Given the description of an element on the screen output the (x, y) to click on. 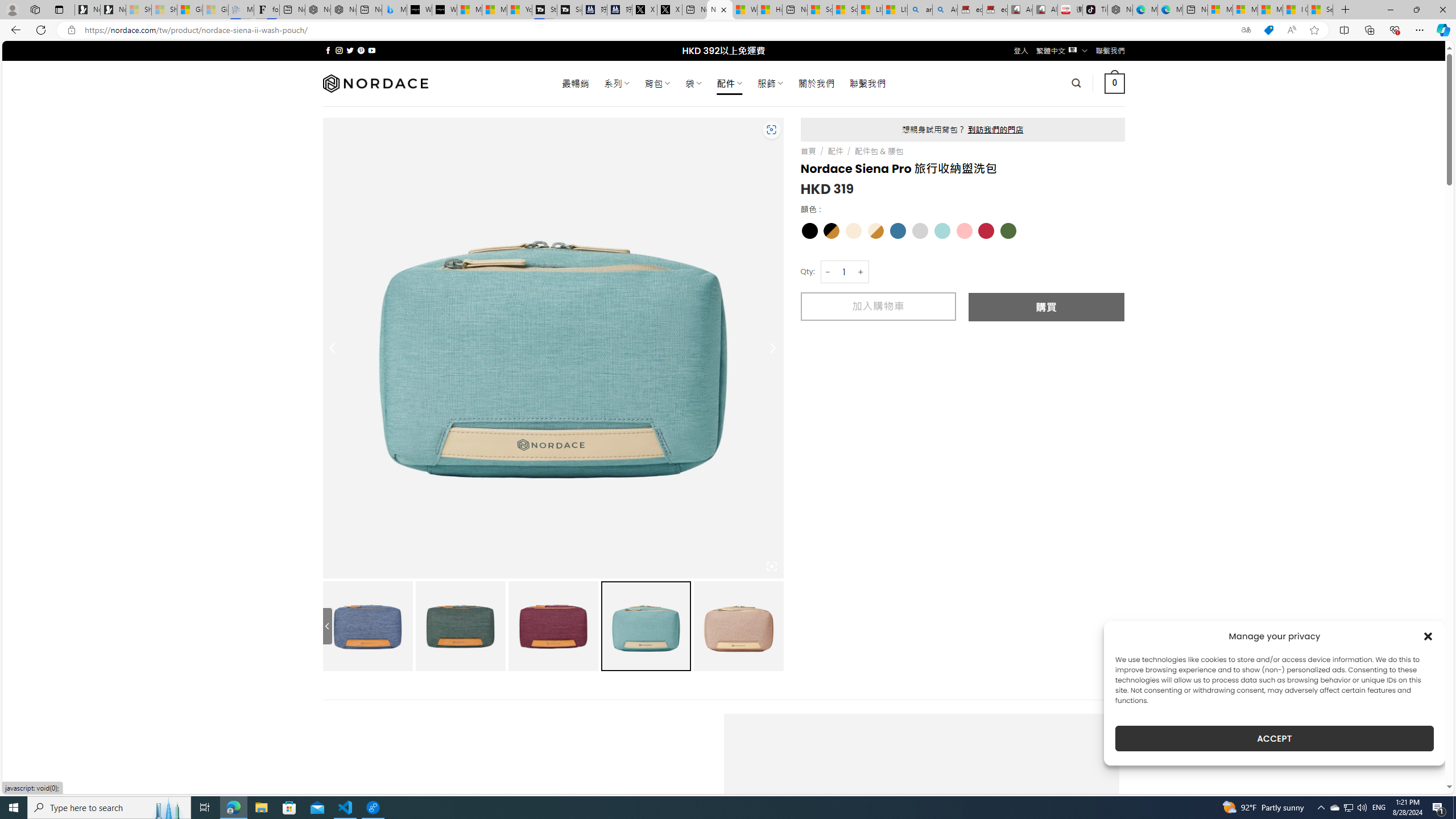
Follow on Pinterest (360, 50)
What's the best AI voice generator? - voice.ai (443, 9)
TikTok (1094, 9)
Workspaces (34, 9)
Follow on Instagram (338, 50)
ACCEPT (1274, 738)
